Given the description of an element on the screen output the (x, y) to click on. 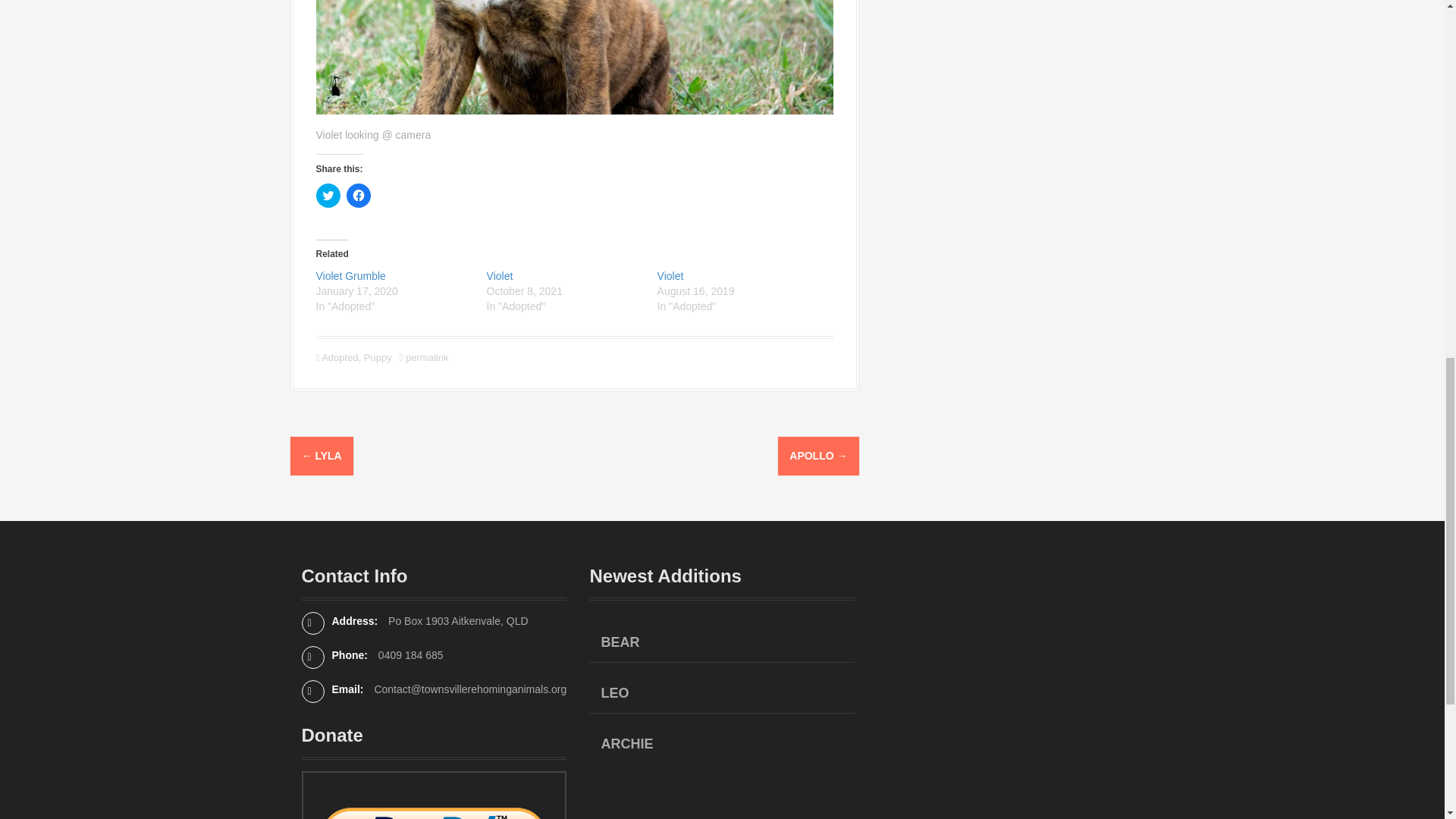
Click to share on Twitter (327, 195)
Violet Grumble (350, 275)
Violet Grumble (350, 275)
Violet (671, 275)
Click to share on Facebook (357, 195)
Violet (499, 275)
Adopted (339, 357)
Violet (499, 275)
Violet (671, 275)
permalink (425, 357)
